Given the description of an element on the screen output the (x, y) to click on. 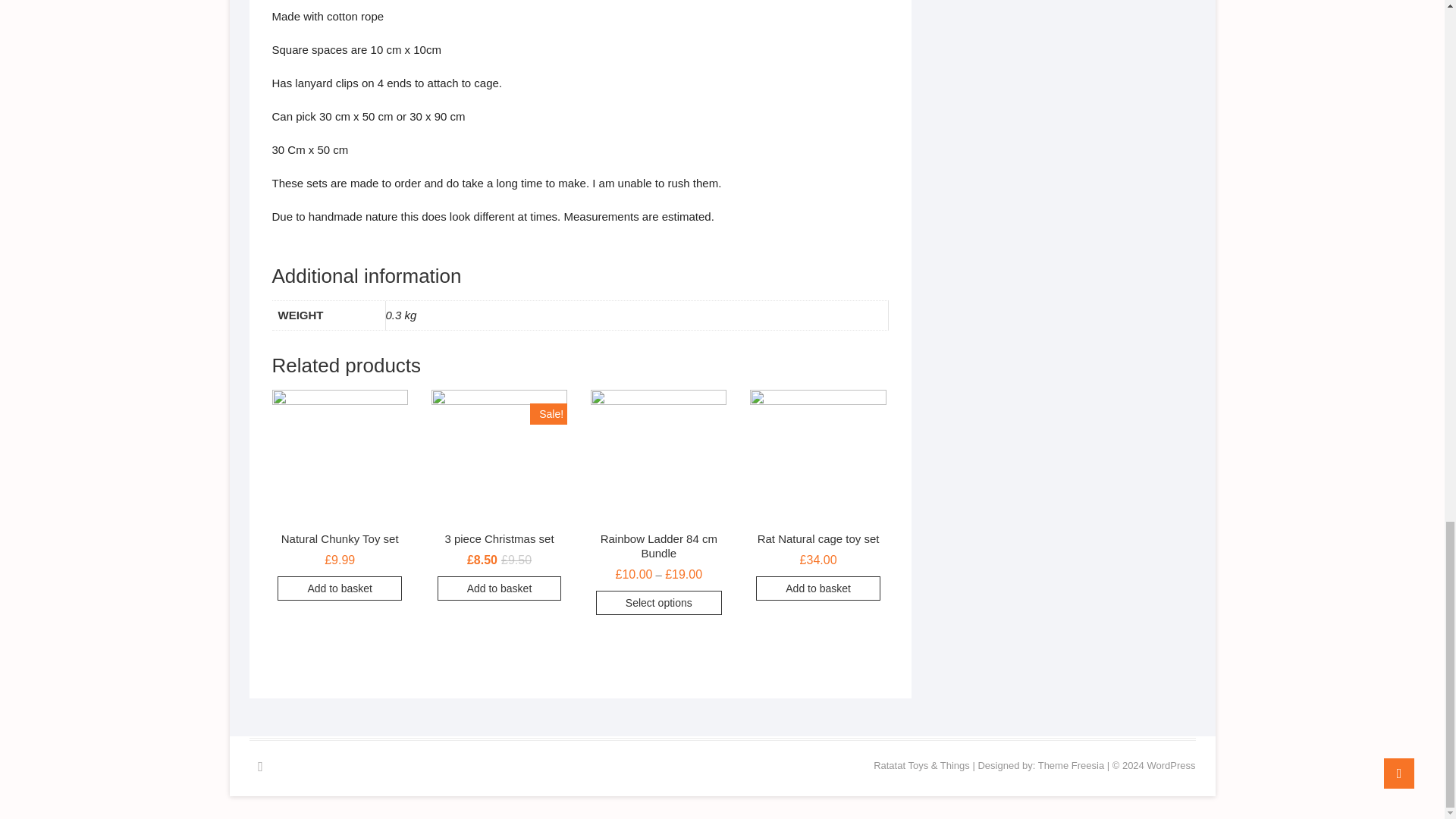
Facebook (259, 766)
Theme Freesia (1070, 765)
WordPress (1171, 765)
